Given the description of an element on the screen output the (x, y) to click on. 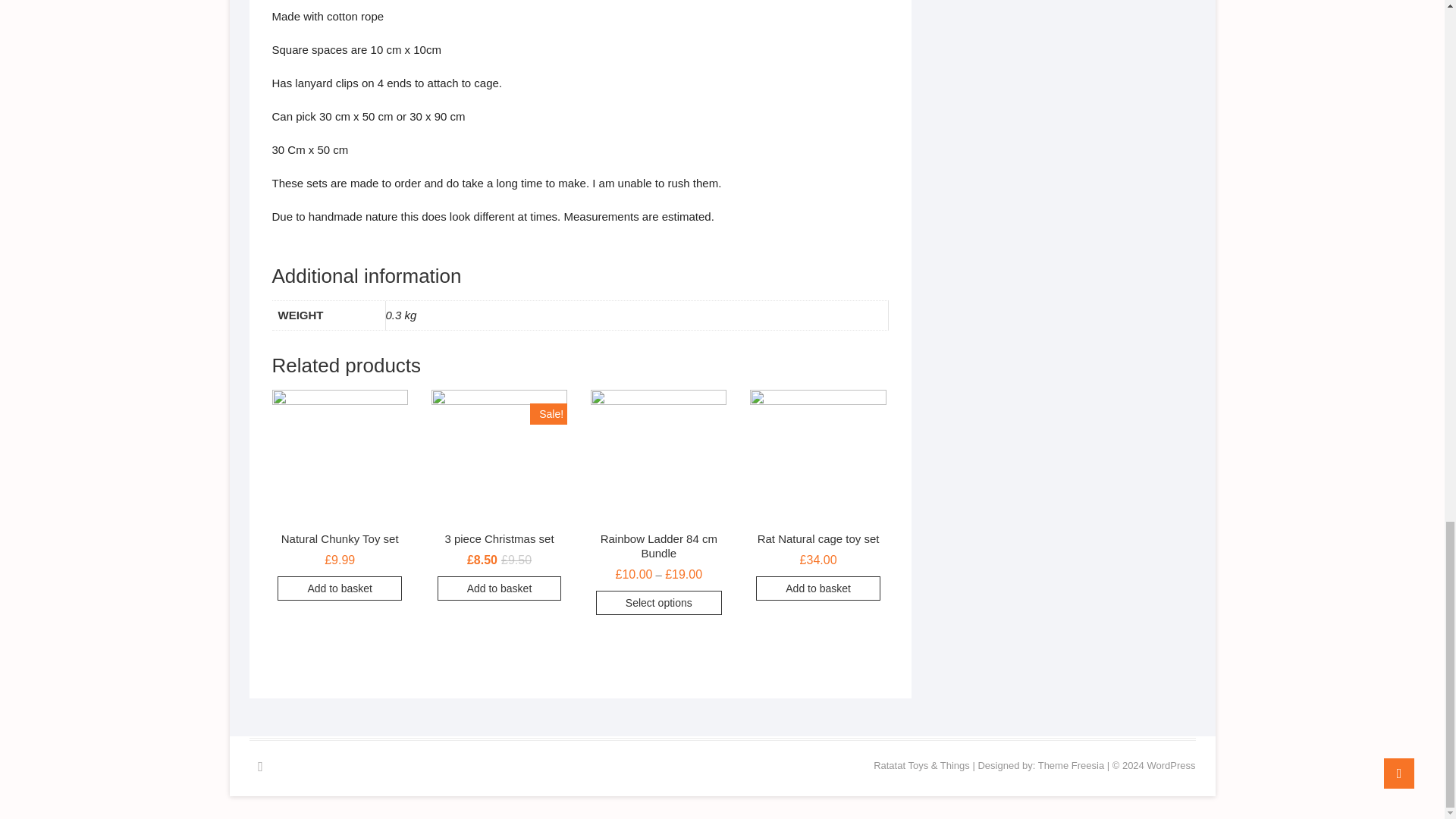
Facebook (259, 766)
Theme Freesia (1070, 765)
WordPress (1171, 765)
